Given the description of an element on the screen output the (x, y) to click on. 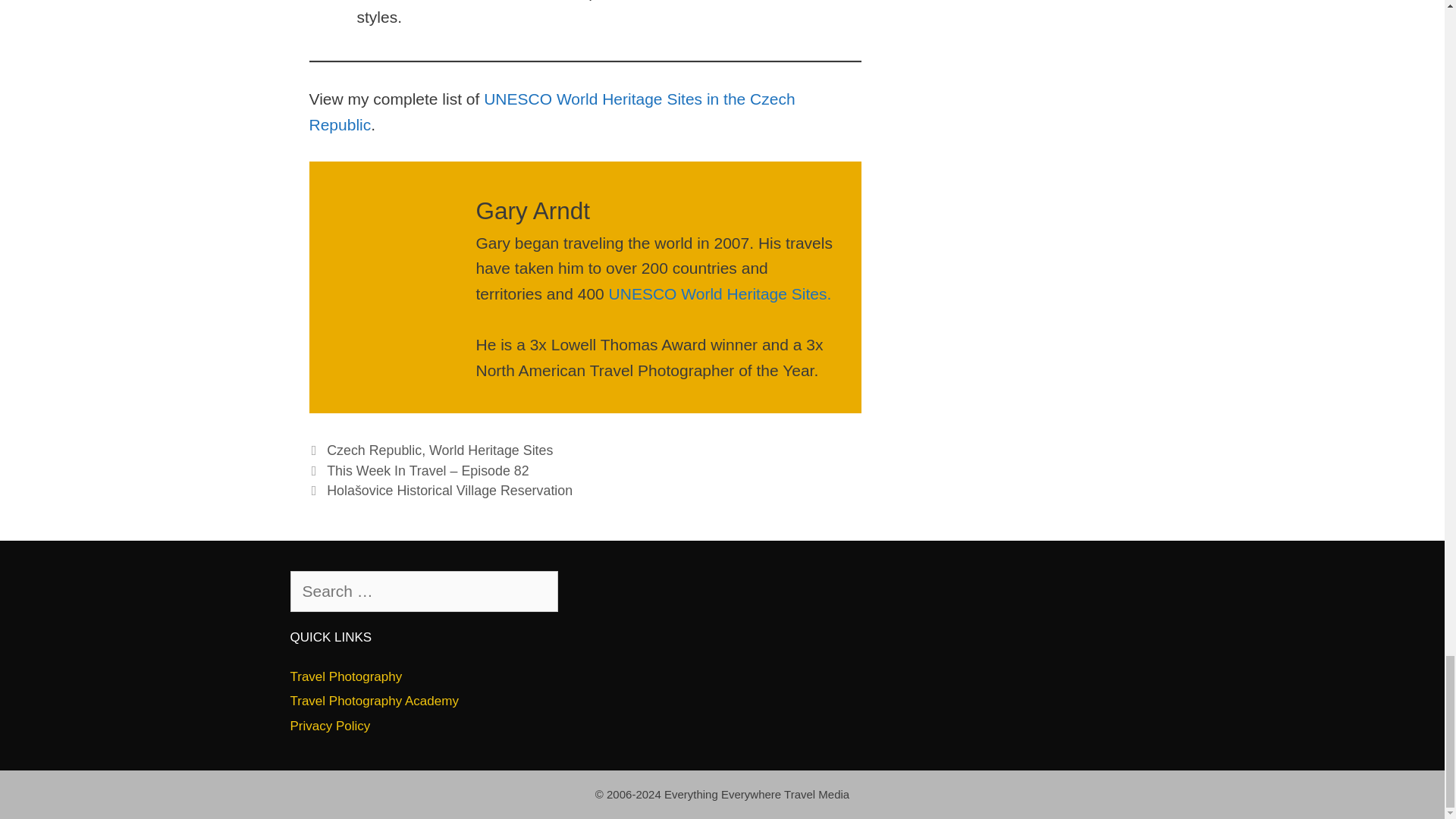
Travel Photography Academy (373, 700)
UNESCO World Heritage Sites. (719, 293)
Privacy Policy (329, 726)
Czech Republic (374, 450)
UNESCO World Heritage Sites in the Czech Republic (551, 111)
Travel Photography (345, 676)
Search for: (423, 590)
World Heritage Sites (491, 450)
